Given the description of an element on the screen output the (x, y) to click on. 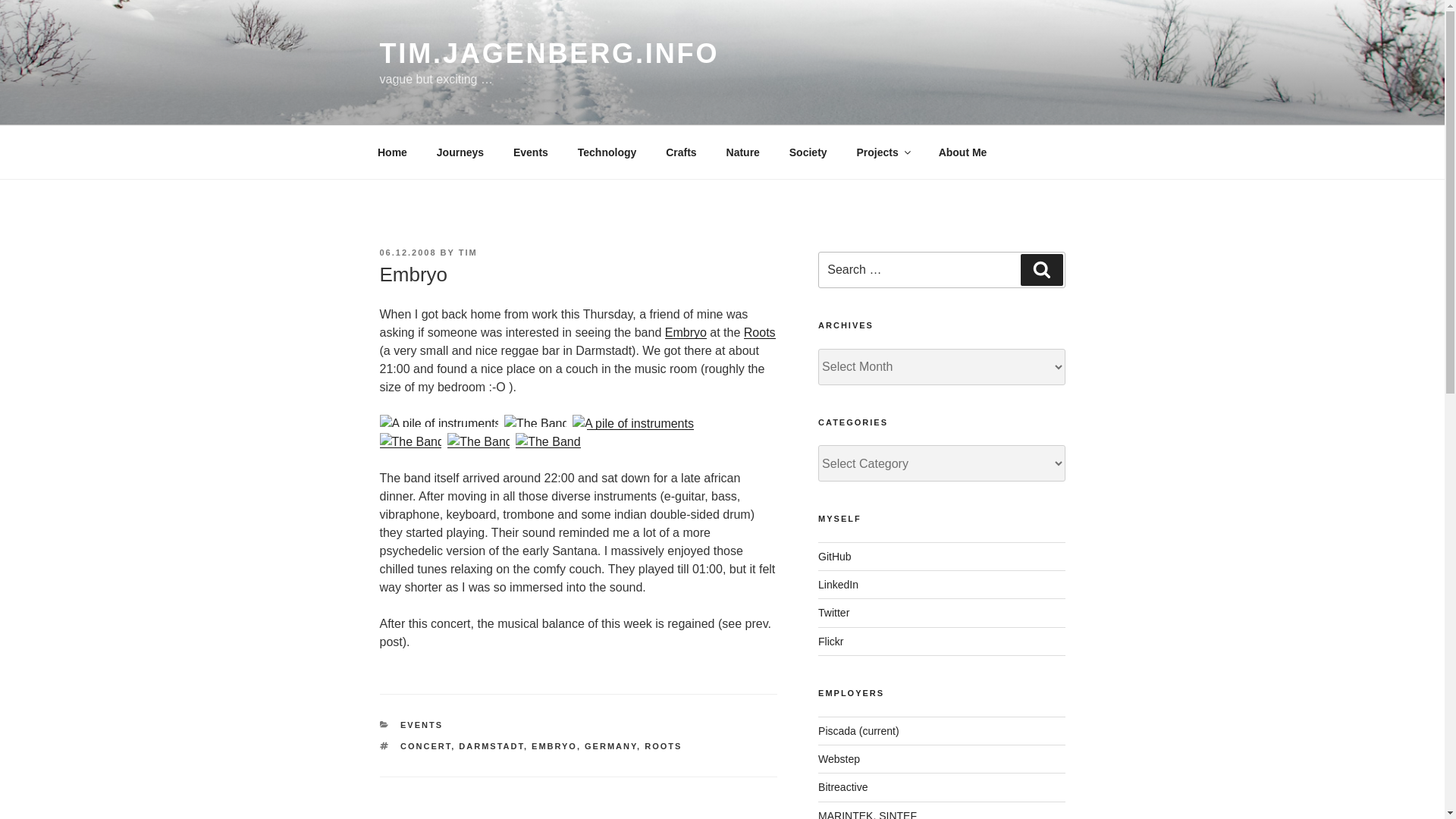
DARMSTADT (491, 746)
Society (808, 151)
Embryo (411, 442)
CONCERT (425, 746)
A pile of instruments (439, 423)
Journeys (459, 151)
My LinkedIn profile (838, 584)
TIM (467, 252)
The Norwegian Marine Technology Research Institute (867, 814)
My Flickr profile (830, 641)
Embryo (547, 442)
Follow me on Twitter (833, 612)
Embryo (536, 423)
About Me (962, 151)
